Given the description of an element on the screen output the (x, y) to click on. 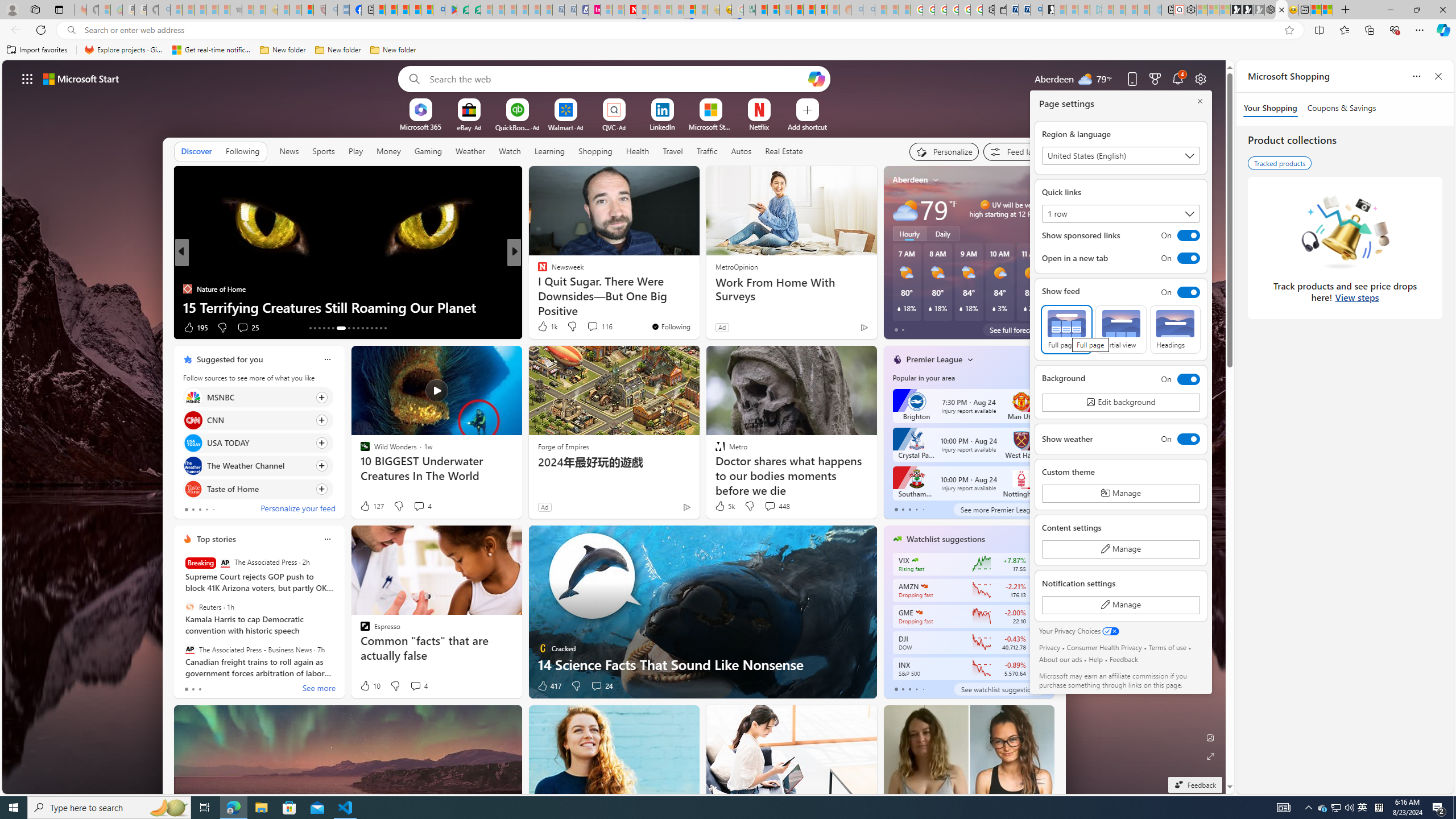
5k Like (724, 505)
AutomationID: tab-13 (310, 328)
View comments 84 Comment (597, 327)
Sports (323, 151)
Start the conversation (589, 327)
You're following Newsweek (670, 326)
About our ads (1060, 658)
previous (888, 252)
Play (354, 151)
